Given the description of an element on the screen output the (x, y) to click on. 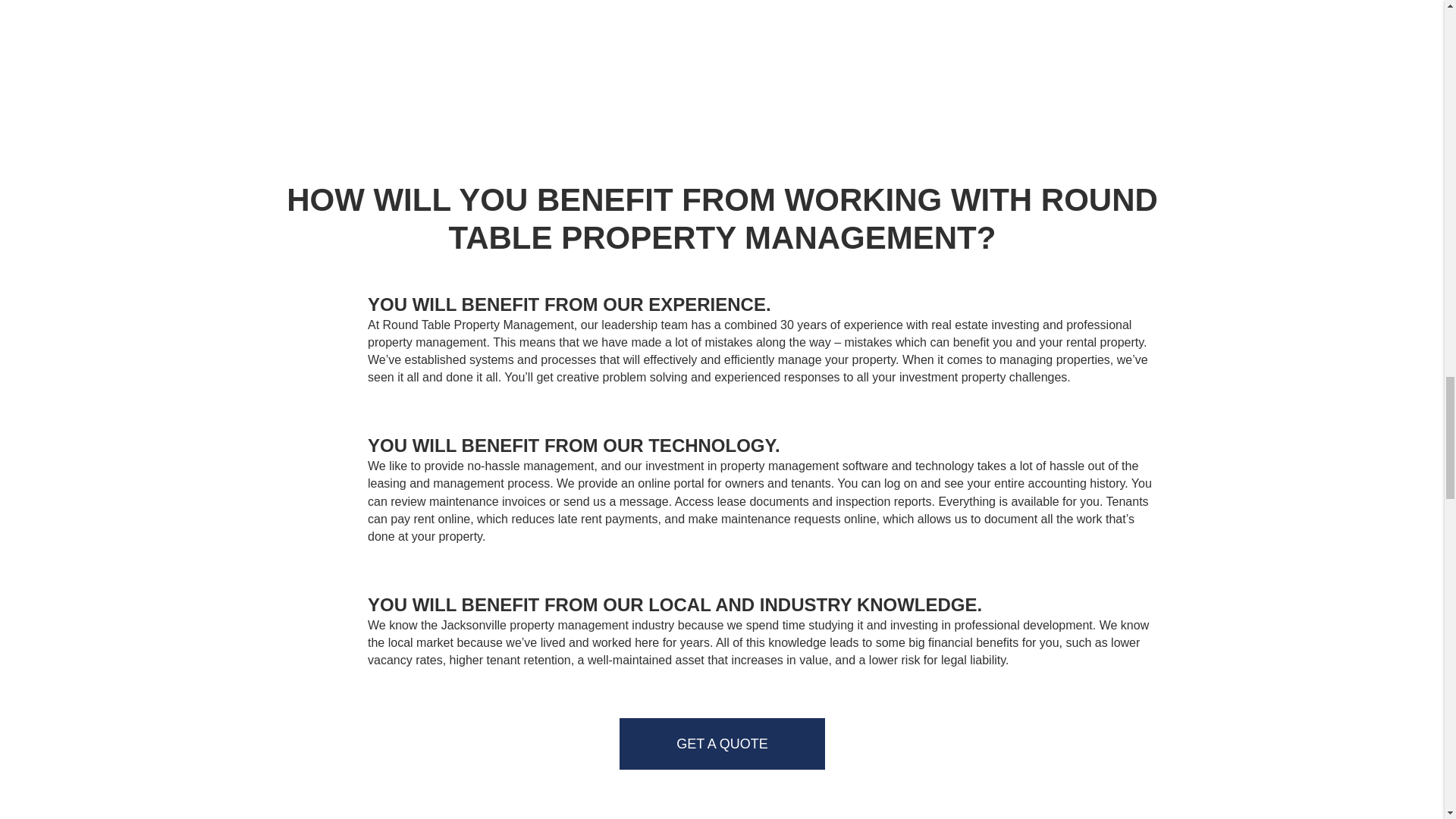
GET A QUOTE (722, 743)
